Given the description of an element on the screen output the (x, y) to click on. 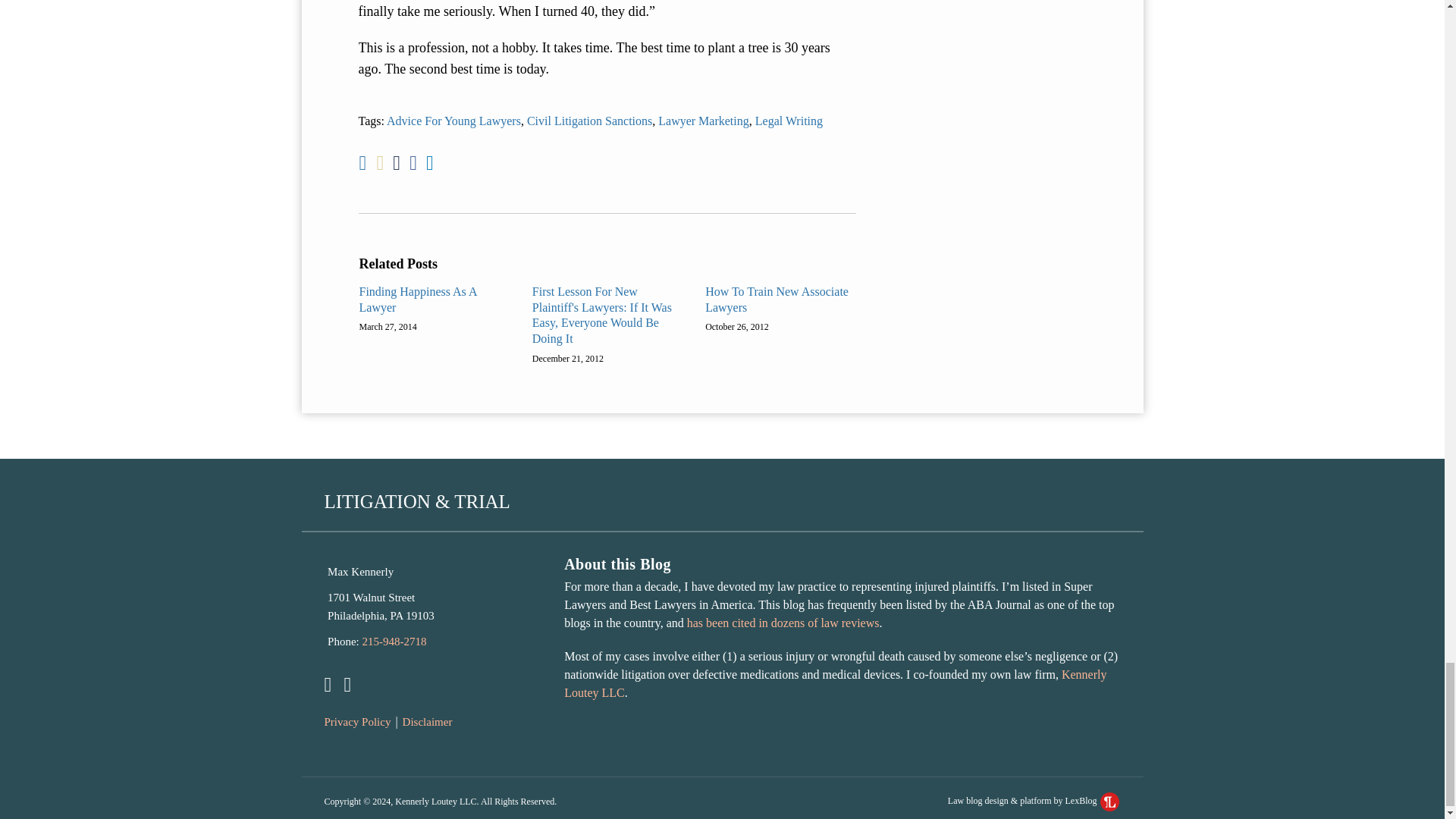
How To Train New Associate Lawyers (780, 300)
Legal Writing (788, 120)
Lawyer Marketing (703, 120)
Advice For Young Lawyers (454, 120)
LexBlog Logo (1109, 801)
Finding Happiness As A Lawyer (434, 300)
Civil Litigation Sanctions (589, 120)
